Given the description of an element on the screen output the (x, y) to click on. 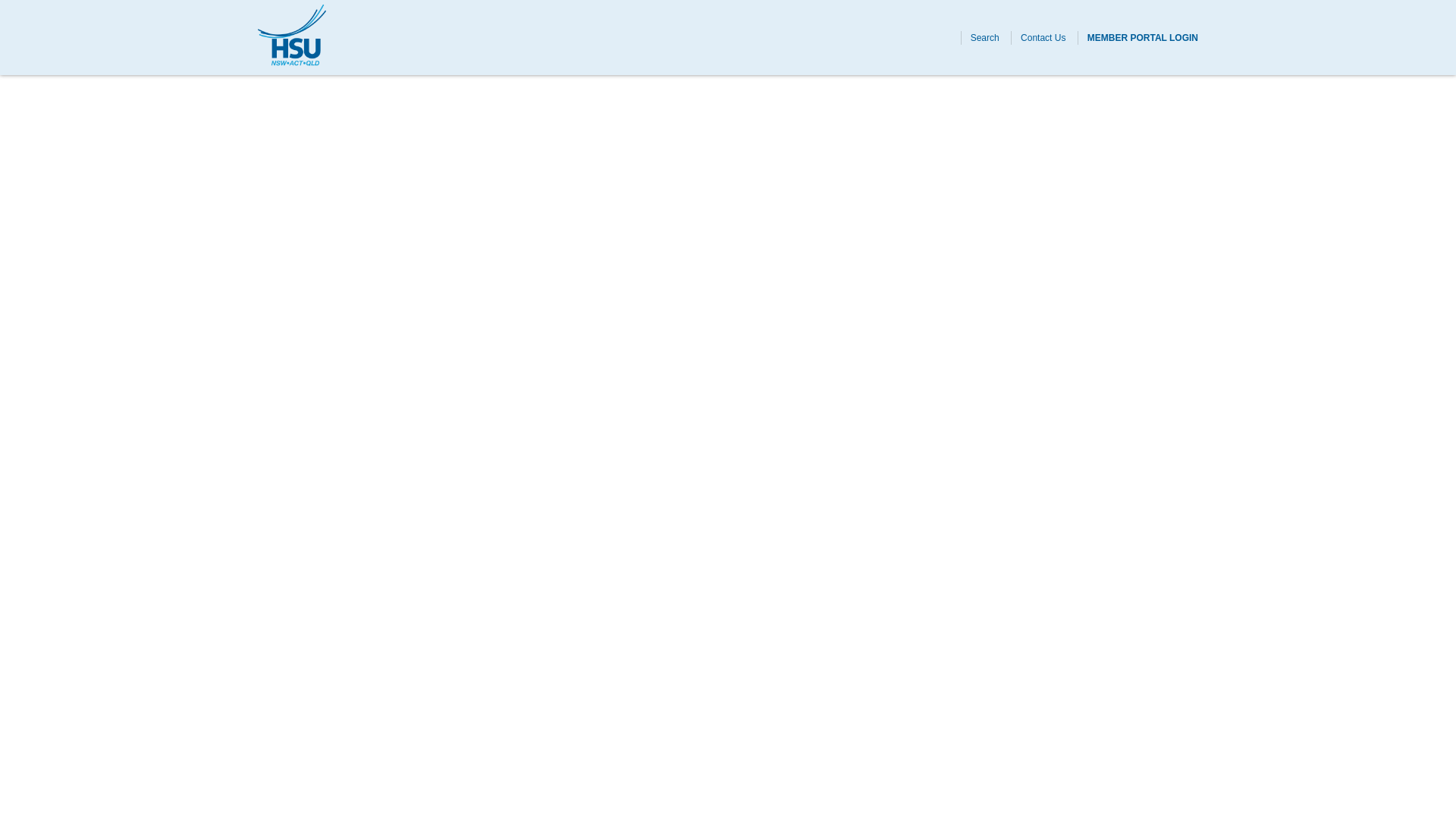
MEMBER PORTAL LOGIN (1142, 36)
Search (984, 36)
Contact Us (1042, 36)
